Given the description of an element on the screen output the (x, y) to click on. 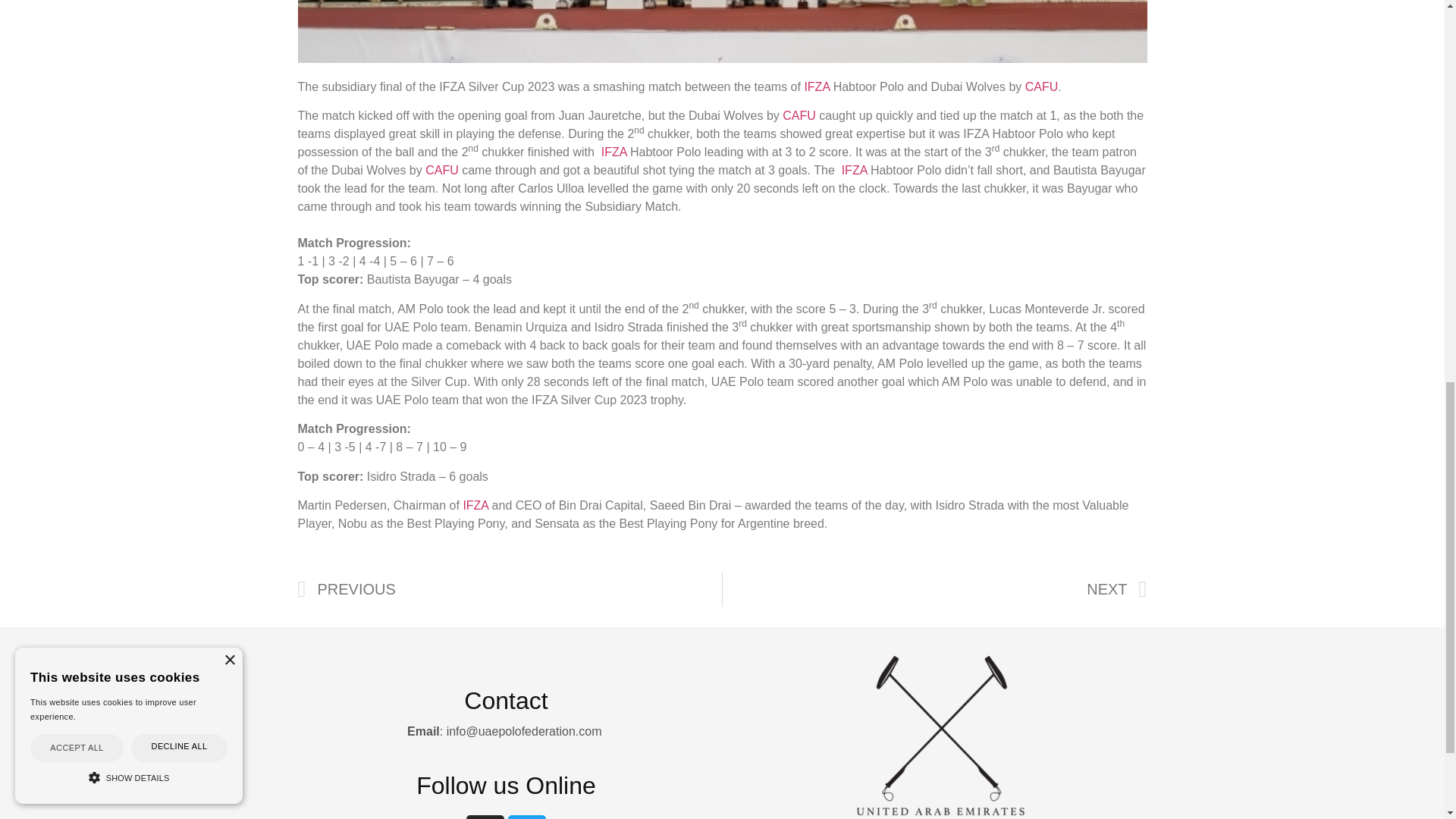
NEXT (934, 589)
IFZA (817, 86)
IFZA (854, 169)
PREVIOUS (509, 589)
IFZA (614, 151)
CAFU (799, 115)
IFZA  (477, 504)
CAFU (1041, 86)
CAFU (441, 169)
